Given the description of an element on the screen output the (x, y) to click on. 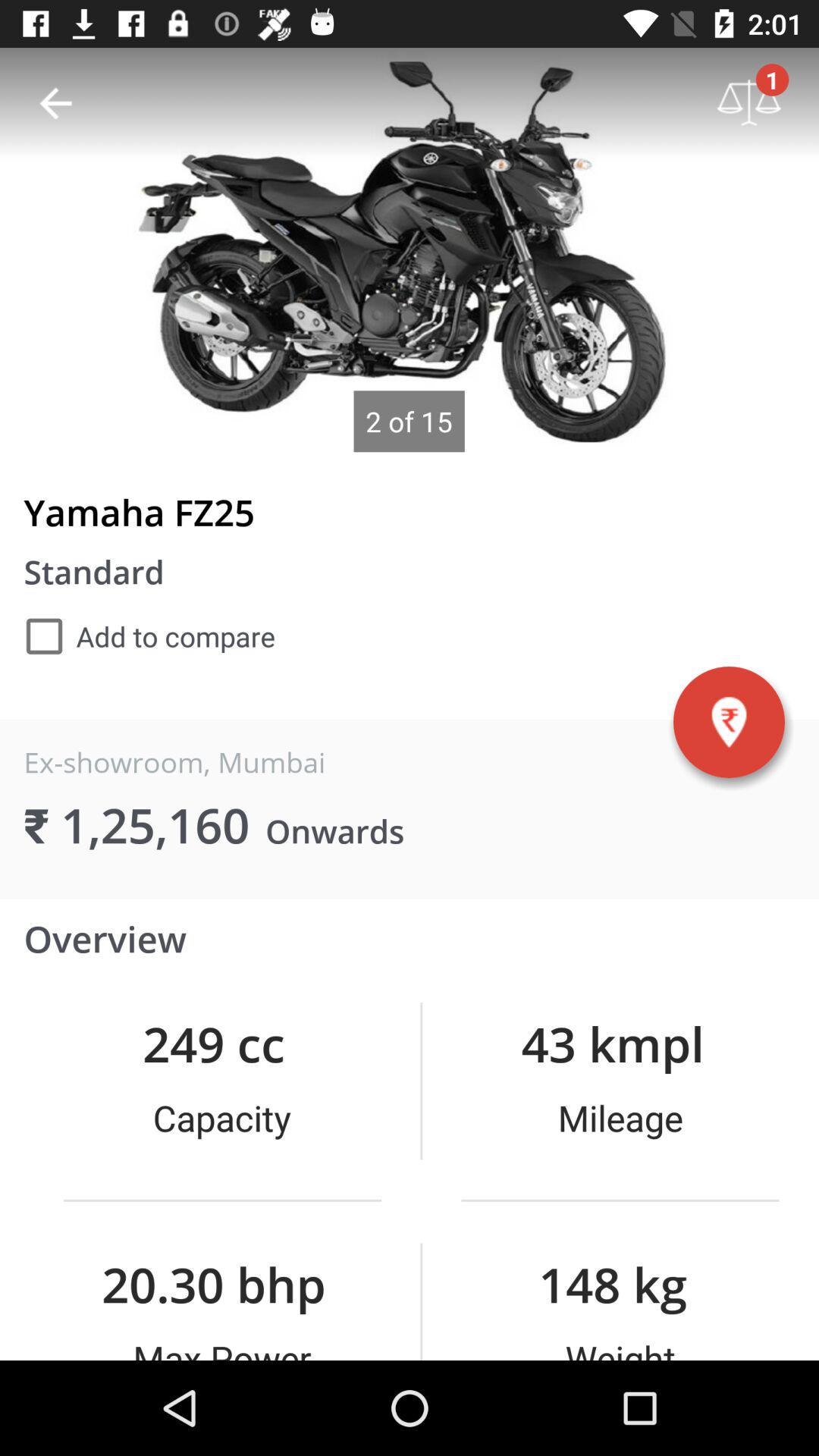
click the check box below the standard text (149, 636)
click on icon which has currency symbol on it (729, 722)
